Given the description of an element on the screen output the (x, y) to click on. 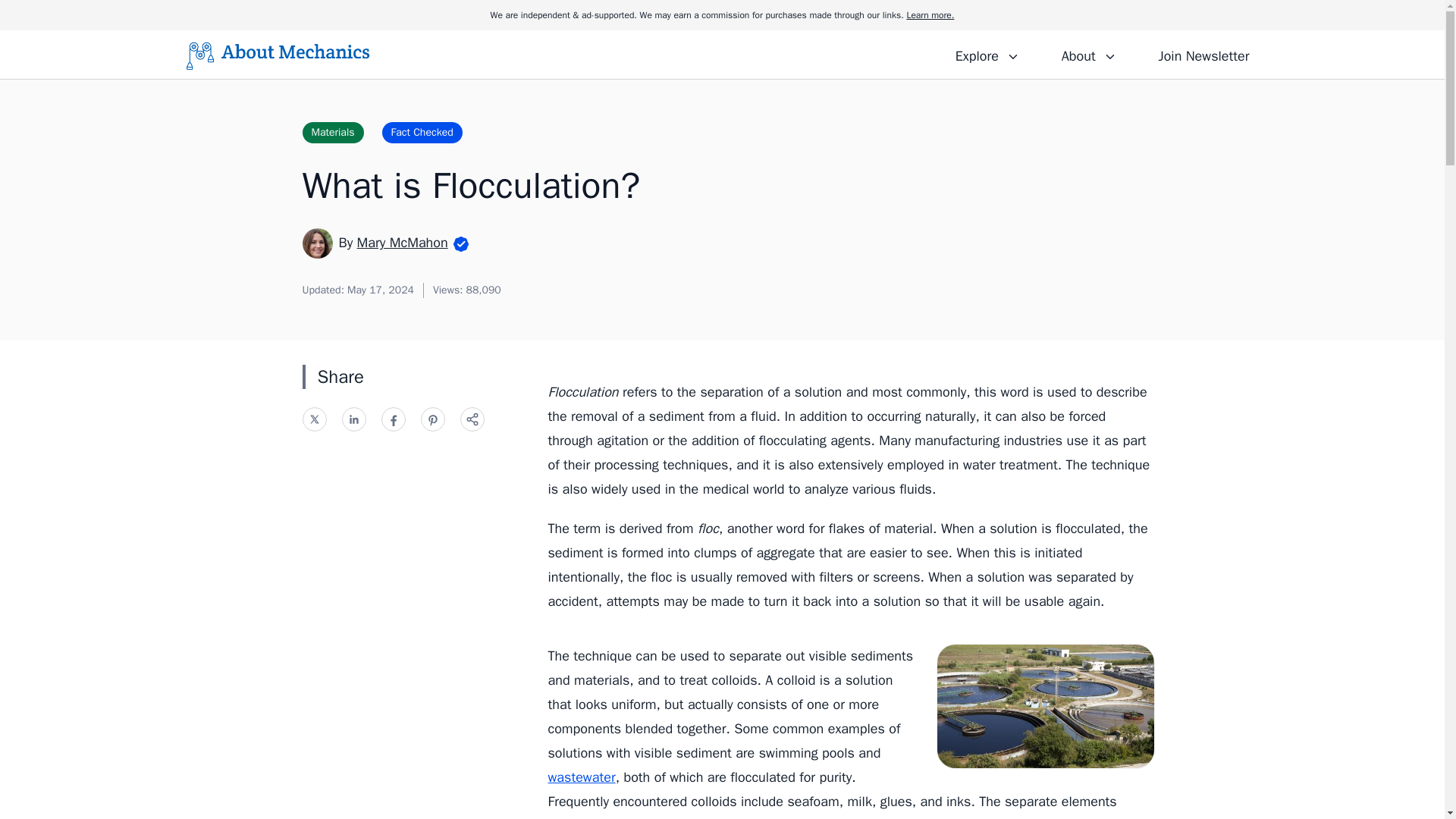
wastewater (580, 777)
Explore (986, 54)
Join Newsletter (1202, 54)
Materials (331, 132)
Learn more. (929, 15)
Mary McMahon (402, 242)
About (1088, 54)
Fact Checked (422, 132)
